Given the description of an element on the screen output the (x, y) to click on. 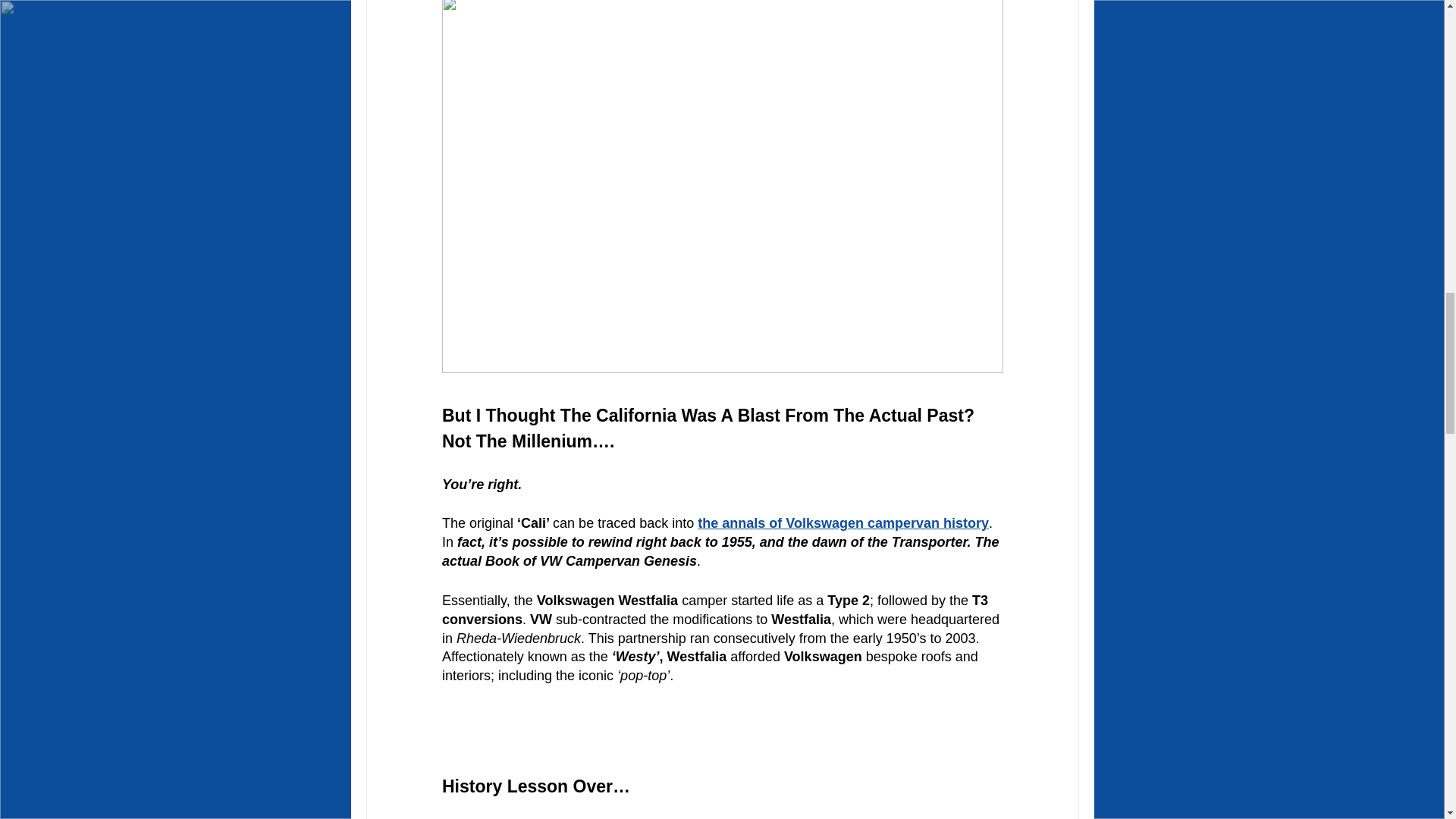
the annals of Volkswagen campervan history (842, 522)
